Given the description of an element on the screen output the (x, y) to click on. 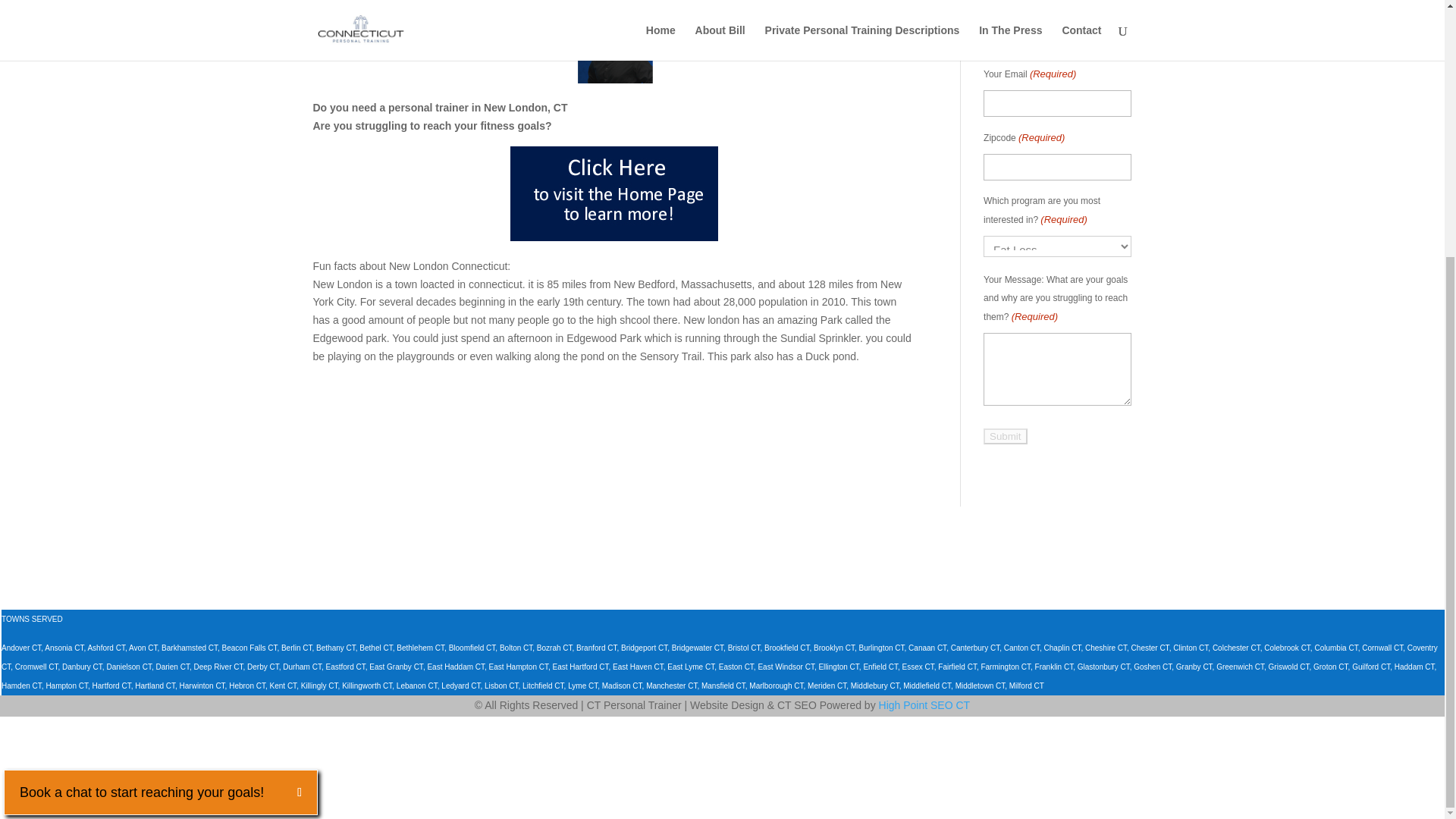
Andover CT (20, 647)
Submit (1005, 436)
Brooklyn CT (833, 647)
Ashford CT (105, 647)
Berlin CT (297, 647)
Bozrah CT (554, 647)
Canterbury CT (974, 647)
Avon CT (143, 647)
Submit (1005, 436)
Bristol CT (744, 647)
